Given the description of an element on the screen output the (x, y) to click on. 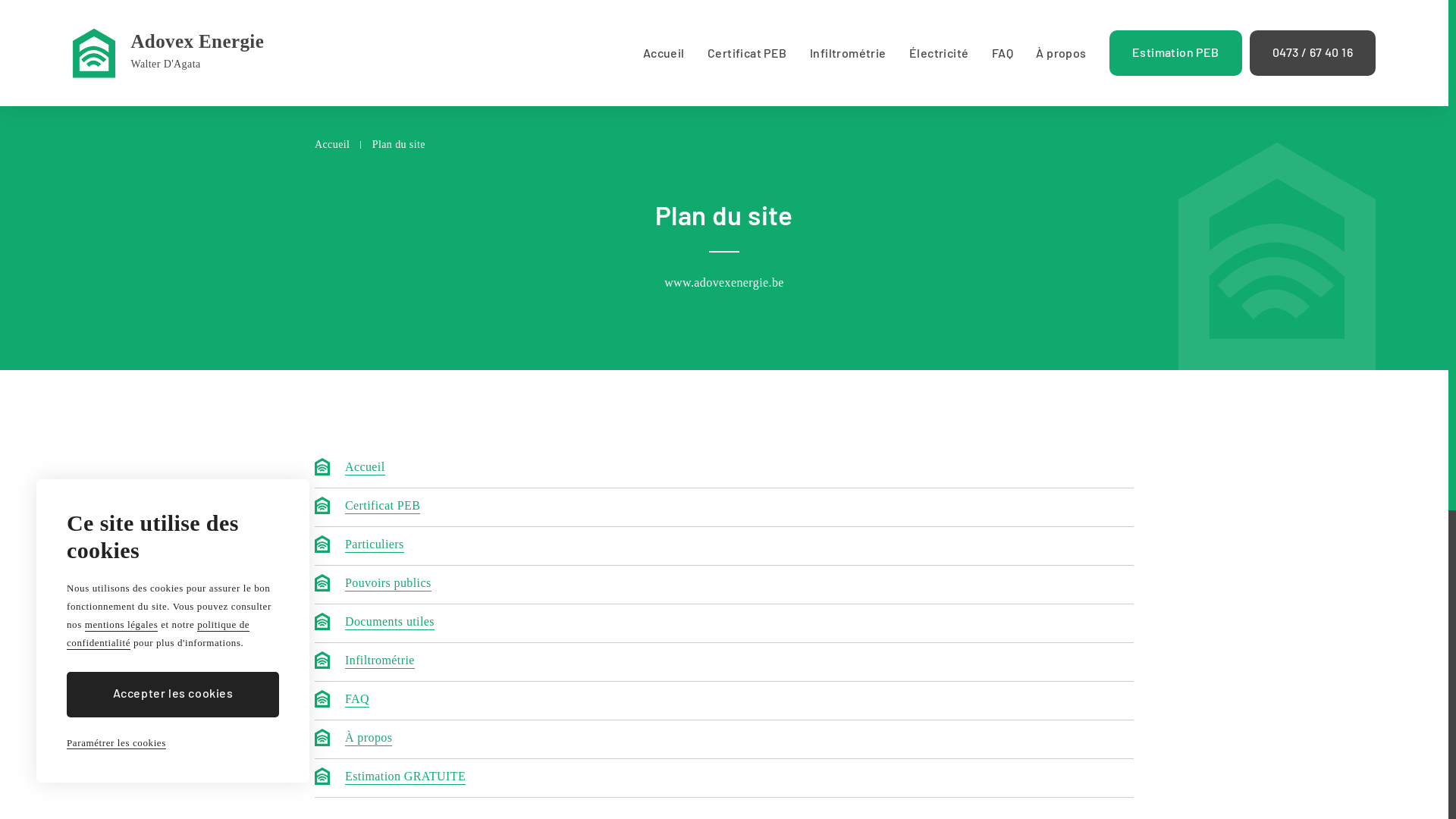
Accueil Element type: text (331, 144)
Certificat PEB Element type: text (382, 506)
FAQ Element type: text (1002, 53)
Accueil Element type: text (663, 53)
Certificat PEB Element type: text (747, 53)
Estimation PEB Element type: text (1175, 52)
FAQ Element type: text (357, 699)
Accueil Element type: text (365, 467)
Documents utiles Element type: text (389, 622)
Particuliers Element type: text (374, 544)
Adovex Energie
Walter D'Agata Element type: text (167, 53)
Plan du site Element type: text (398, 144)
0473 / 67 40 16 Element type: text (1312, 52)
Pouvoirs publics Element type: text (388, 583)
Estimation GRATUITE Element type: text (405, 776)
